Given the description of an element on the screen output the (x, y) to click on. 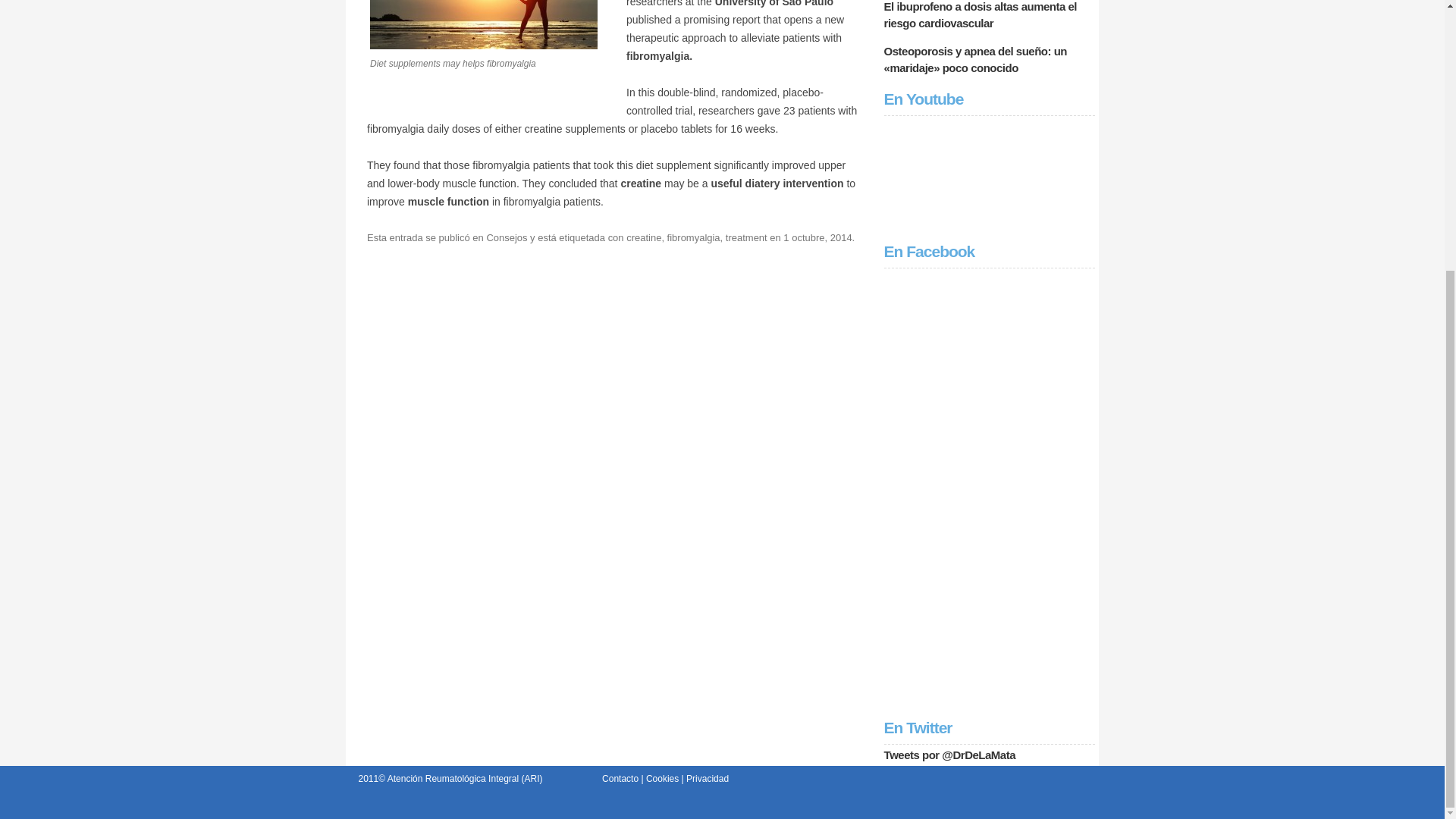
00:06 (817, 237)
